Given the description of an element on the screen output the (x, y) to click on. 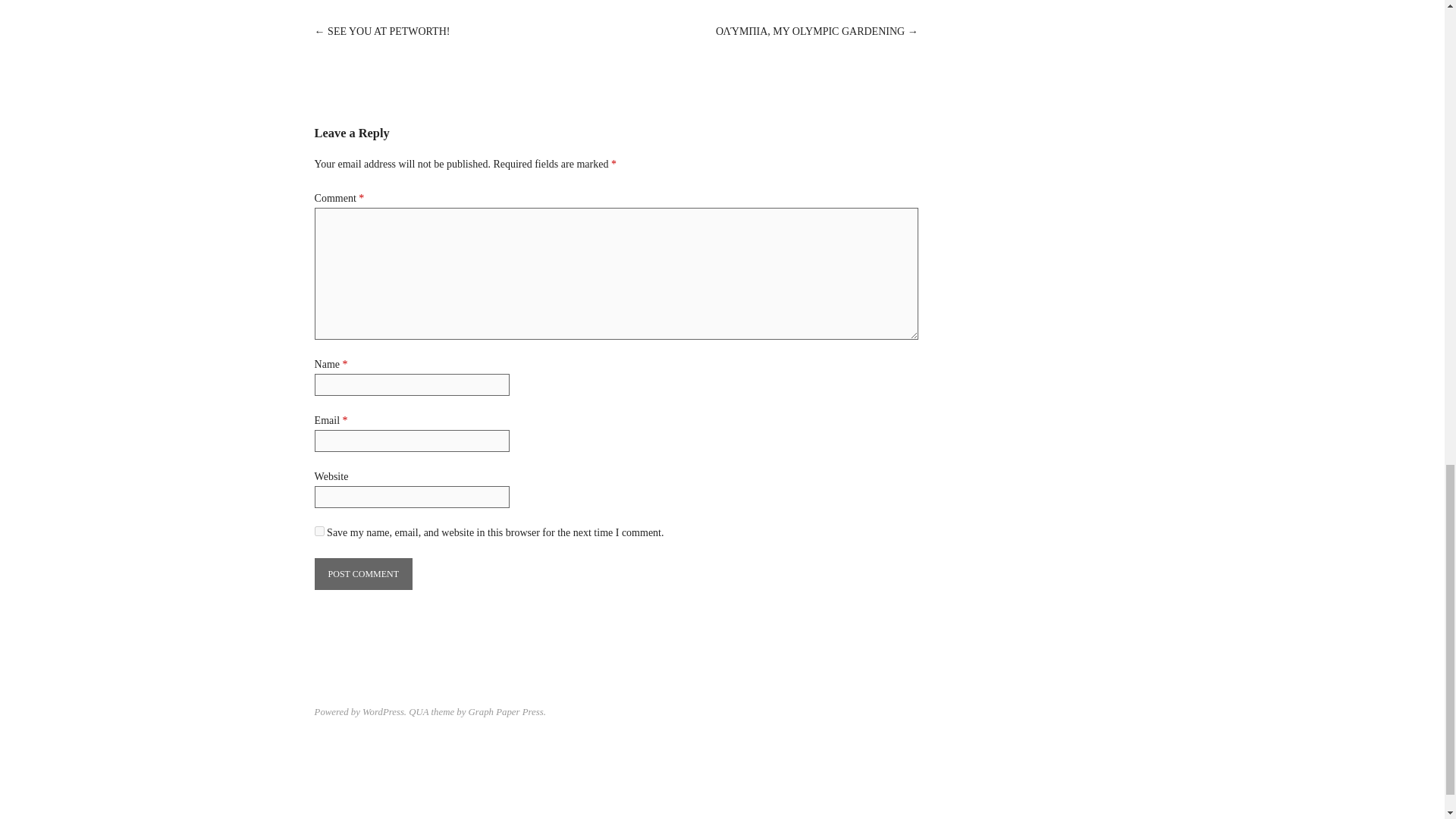
yes (319, 531)
Post Comment (363, 573)
Post Comment (363, 573)
Graph Paper Press (505, 711)
WordPress (383, 711)
SEE YOU AT PETWORTH! (388, 30)
QUA (418, 711)
